Given the description of an element on the screen output the (x, y) to click on. 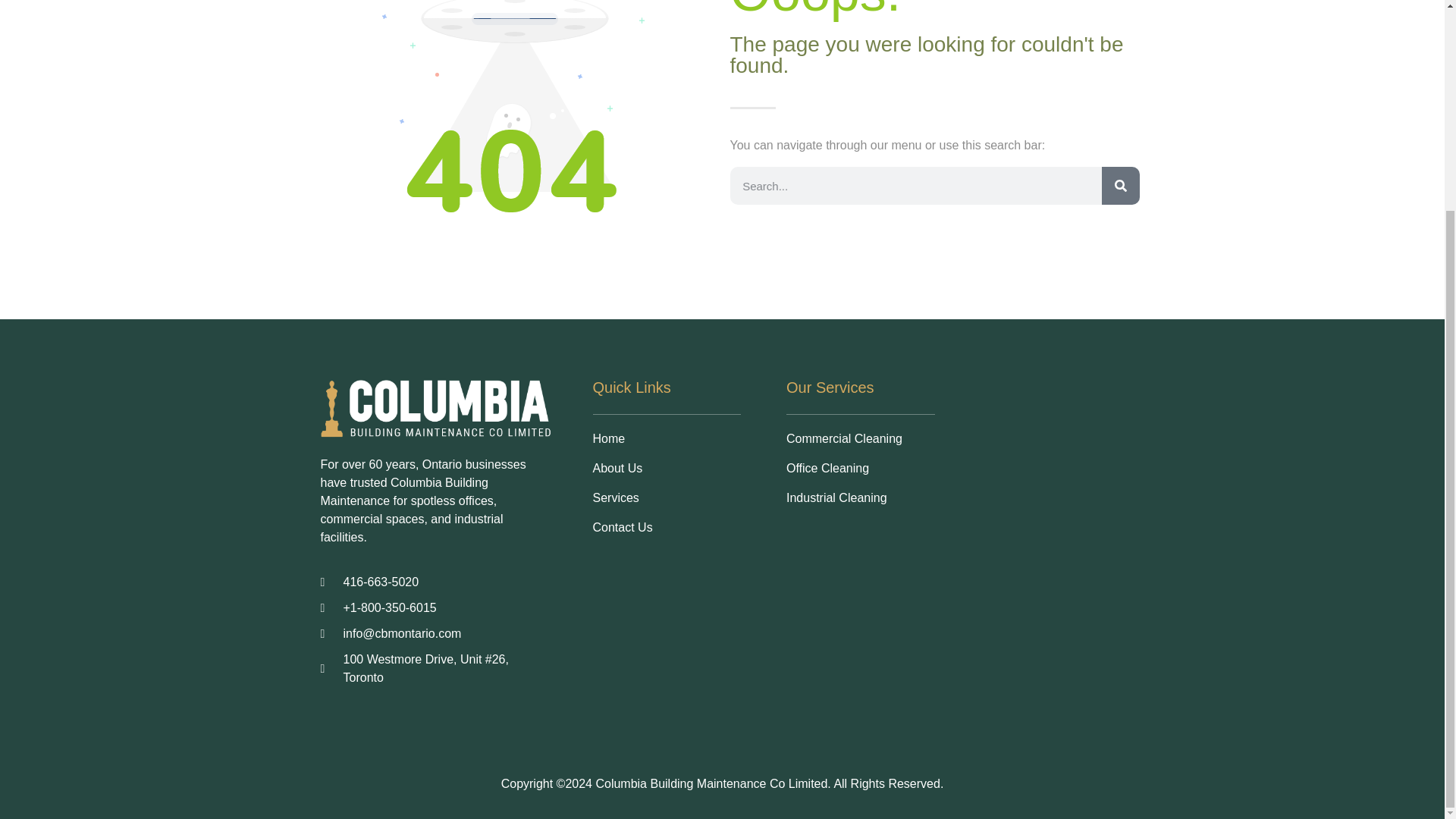
About Us (666, 468)
Commercial Cleaning (860, 438)
416-663-5020 (435, 582)
Office Cleaning (860, 468)
Industrial Cleaning (860, 497)
Services (666, 497)
Home (666, 438)
Contact Us (666, 527)
